Given the description of an element on the screen output the (x, y) to click on. 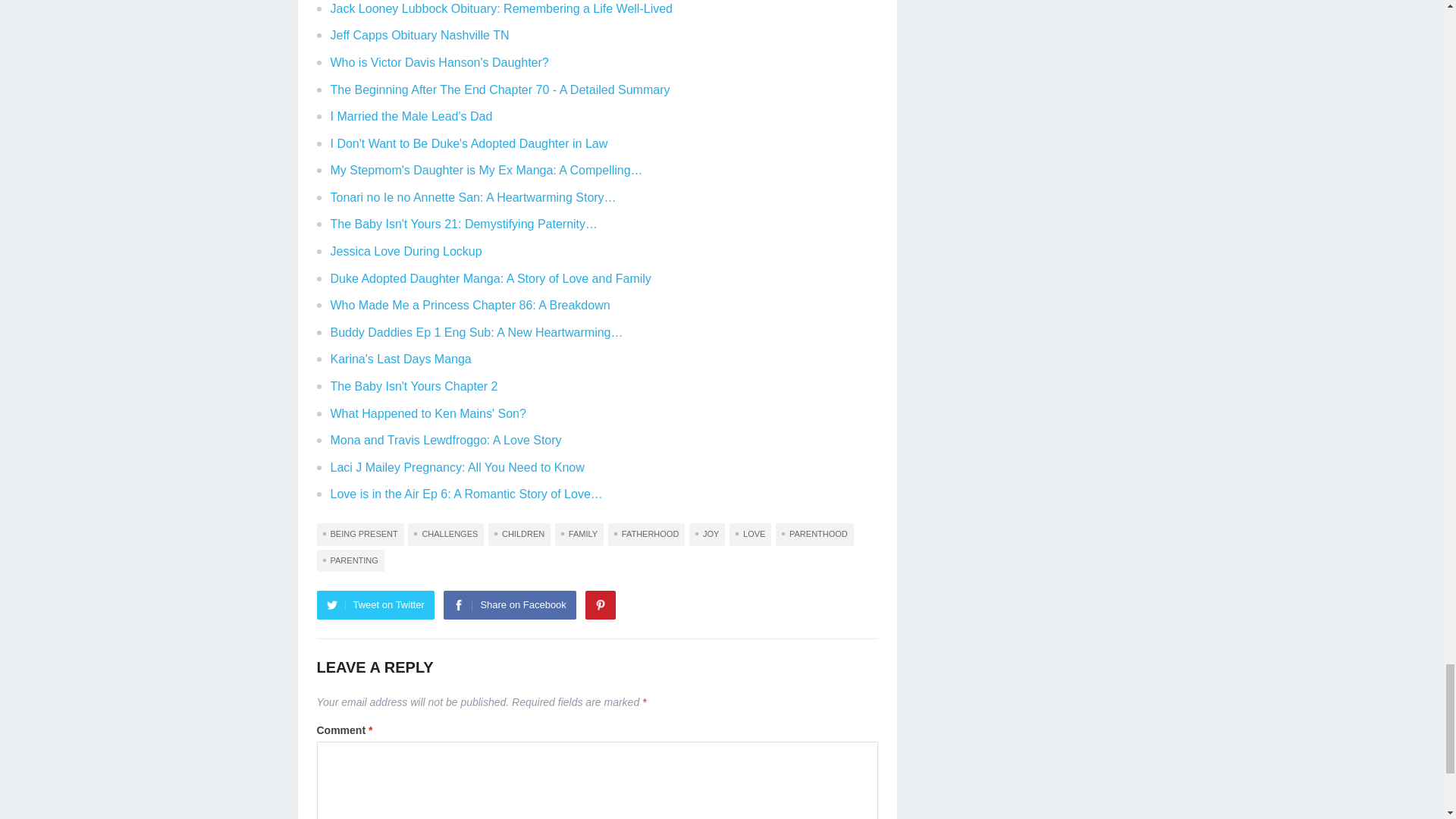
Who is Victor Davis Hanson's Daughter? (439, 62)
Jeff Capps Obituary Nashville TN (419, 34)
Jack Looney Lubbock Obituary: Remembering a Life Well-Lived (501, 8)
I Married the Male Lead's Dad (411, 115)
I Don't Want to Be Duke's Adopted Daughter in Law (469, 143)
Jessica Love During Lockup (405, 250)
The Beginning After The End Chapter 70 - A Detailed Summary (499, 89)
